Given the description of an element on the screen output the (x, y) to click on. 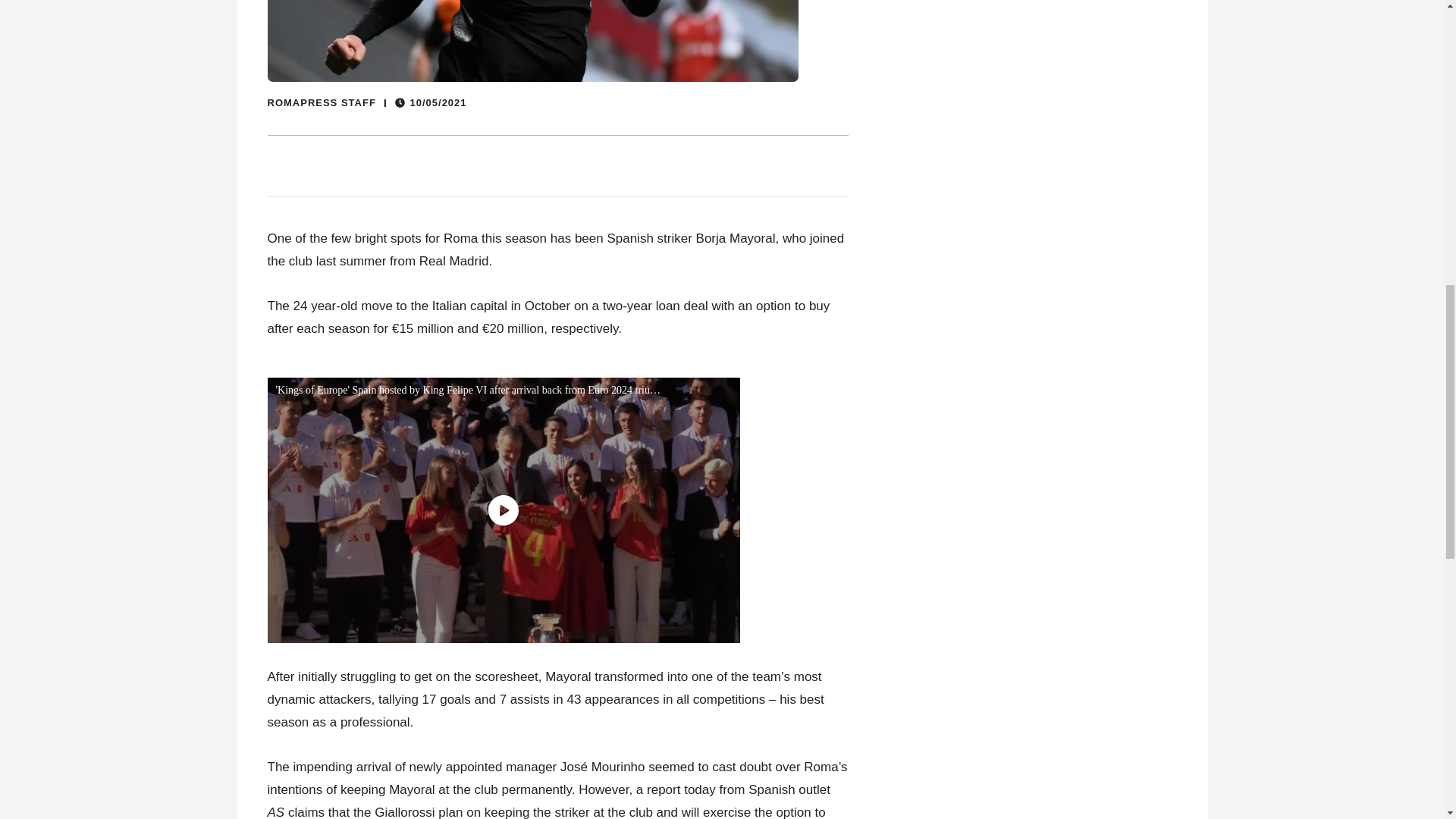
X (1434, 760)
